Given the description of an element on the screen output the (x, y) to click on. 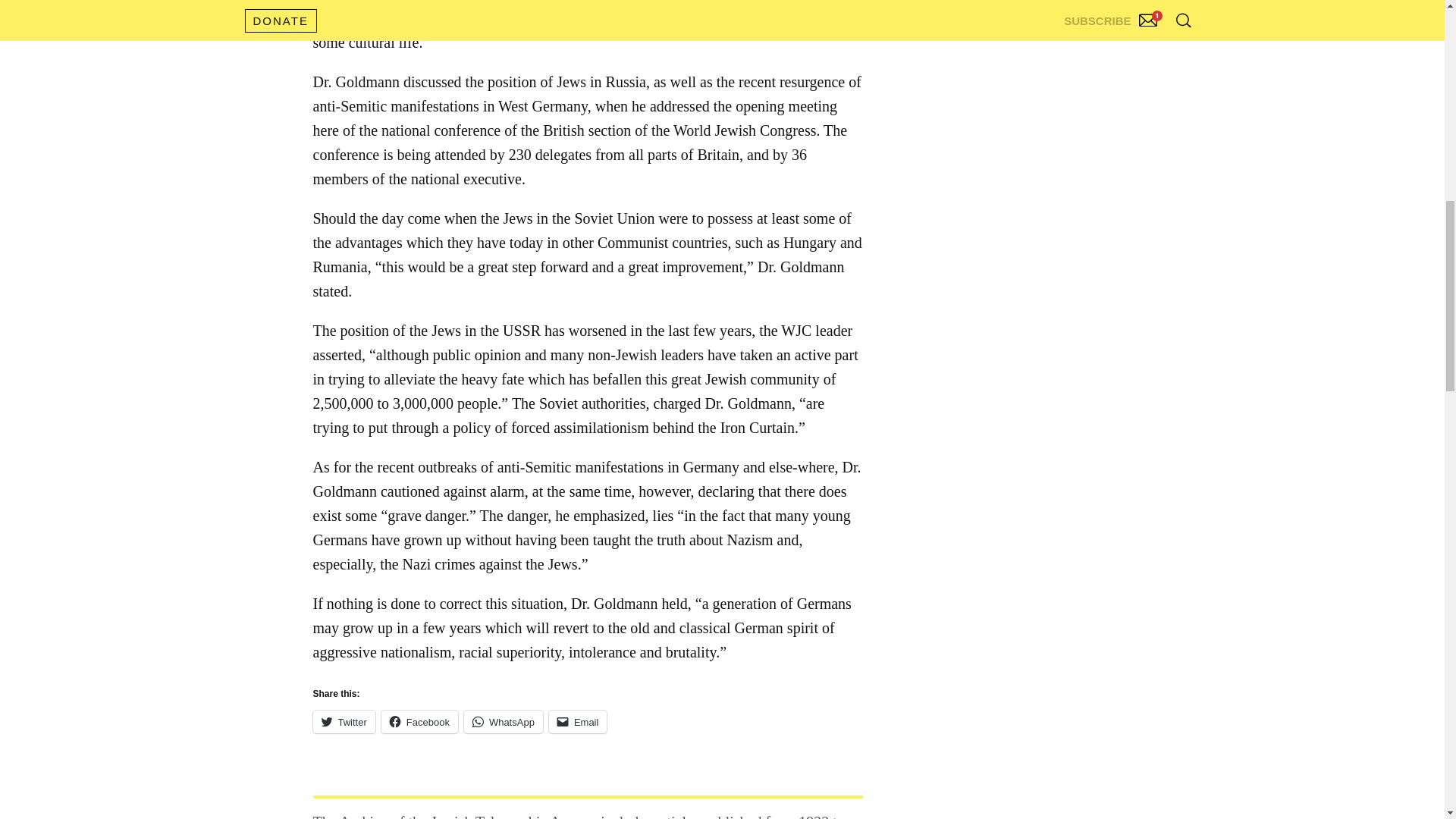
Click to share on WhatsApp (503, 721)
Click to share on Twitter (343, 721)
Click to share on Facebook (419, 721)
Click to email a link to a friend (577, 721)
